Given the description of an element on the screen output the (x, y) to click on. 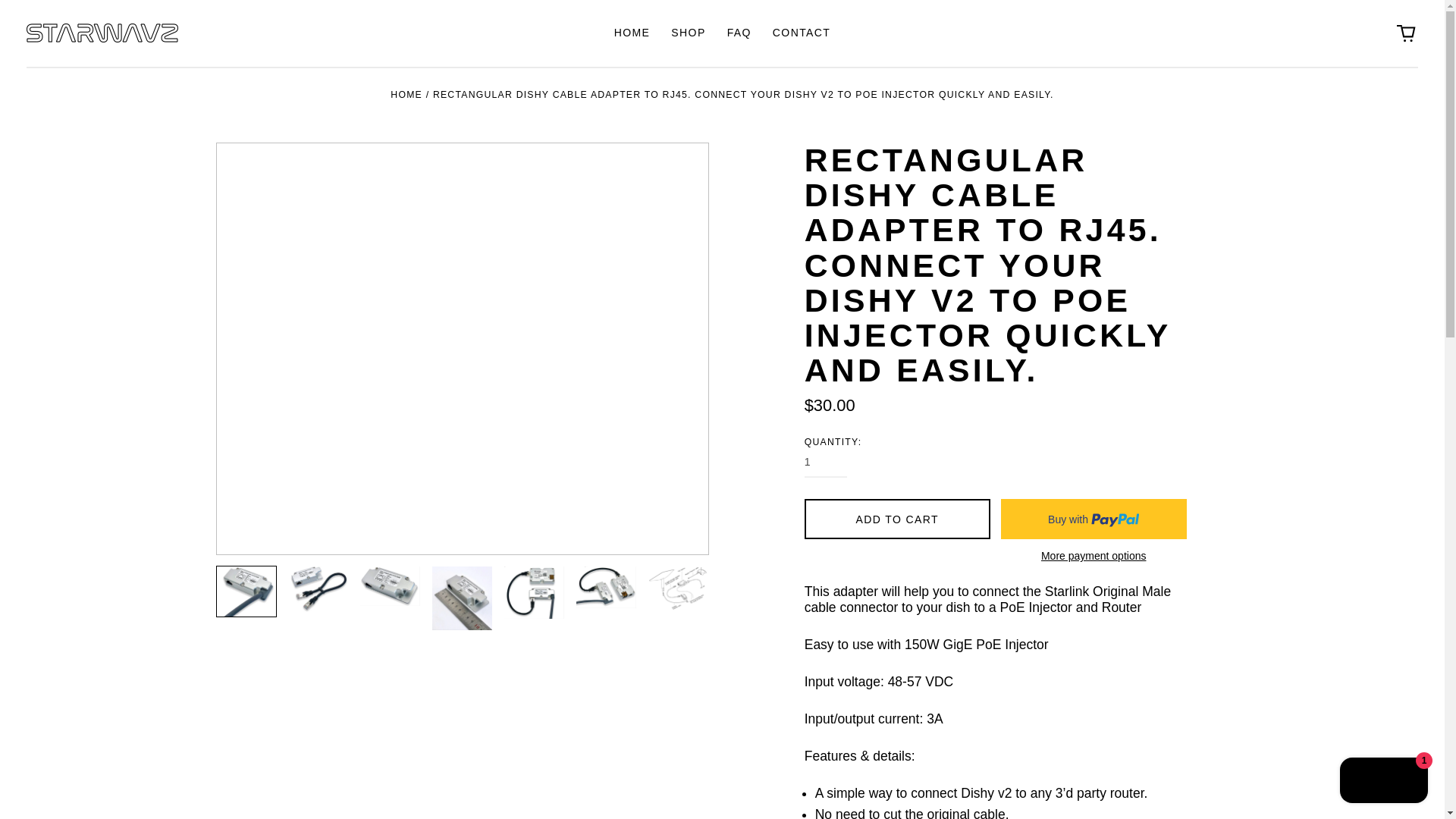
ADD TO CART (897, 518)
CONTACT (801, 33)
HOME (406, 94)
0 items (1406, 33)
Shopify online store chat (1383, 781)
Home (406, 94)
SHOP (688, 33)
HOME (632, 33)
More payment options (1093, 555)
FAQ (738, 33)
